Given the description of an element on the screen output the (x, y) to click on. 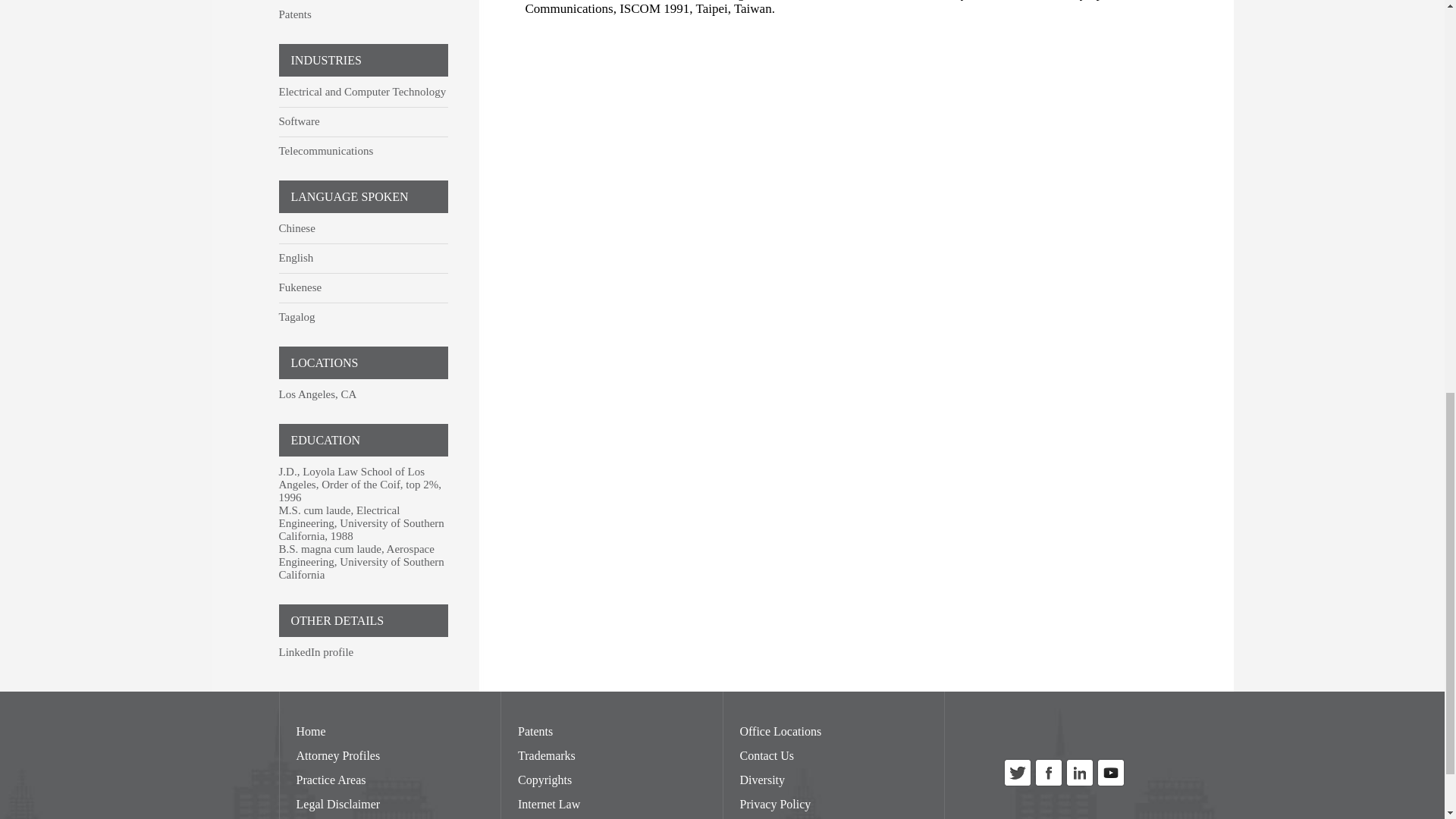
Visit Us On Linkedin (1079, 784)
Software (299, 121)
Practice Areas (330, 779)
Legal Disclaimer (337, 803)
Privacy Policy (774, 803)
Contact Us (766, 755)
Office Locations (780, 730)
Visit Us On Youtube (1109, 784)
Visit Us On Facebook (1048, 784)
Patents (295, 14)
Chinese (297, 227)
Internet Law (548, 803)
Los Angeles, CA (317, 394)
Trademarks (546, 755)
Electrical and Computer Technology (362, 91)
